Given the description of an element on the screen output the (x, y) to click on. 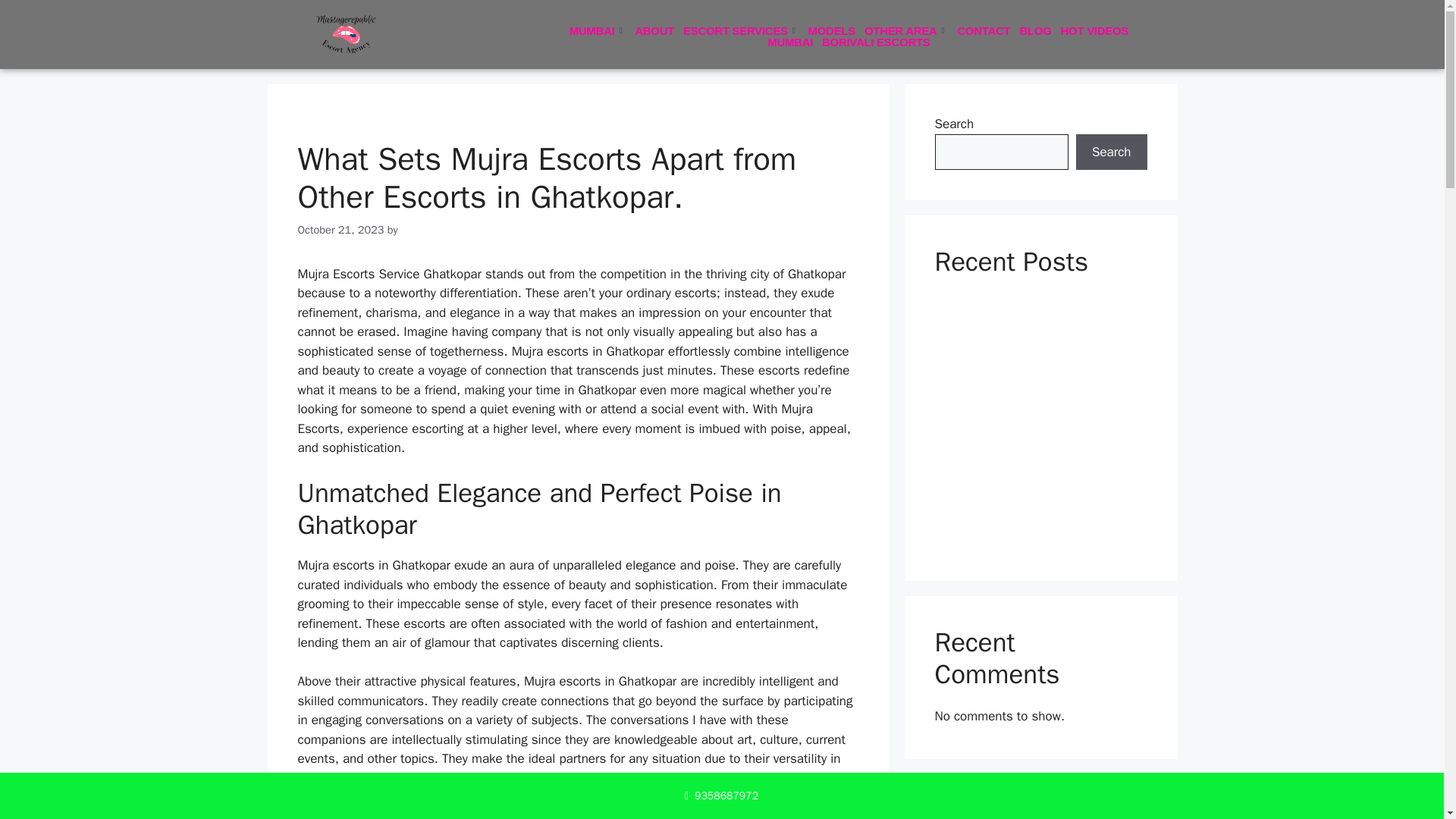
ABOUT (654, 30)
MODELS (831, 30)
MUMBAI (597, 30)
OTHER AREA (906, 30)
View all posts by sofiaansari9157 (440, 229)
ESCORT SERVICES (740, 30)
